Given the description of an element on the screen output the (x, y) to click on. 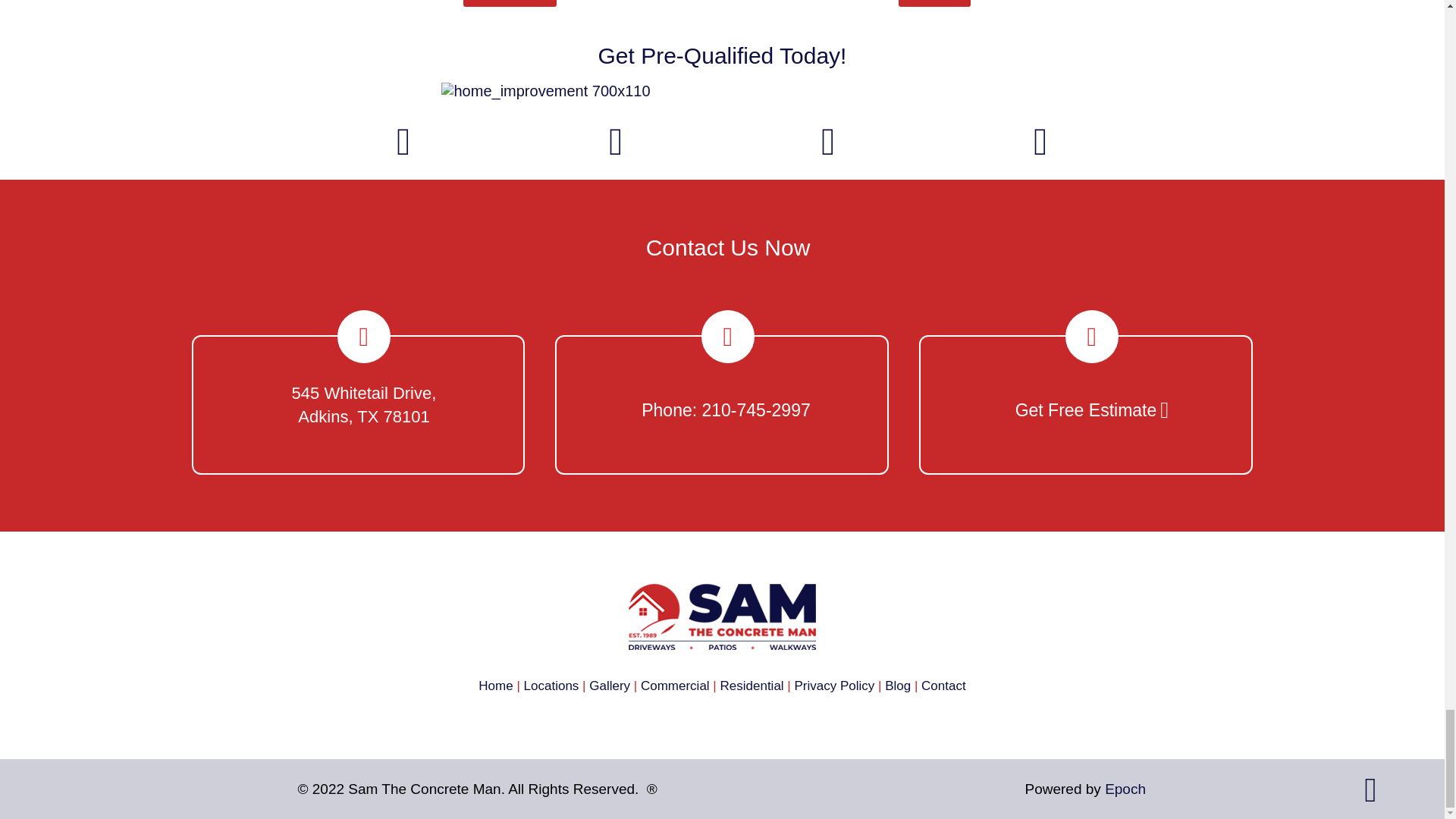
Epoch - Creativity with Expertise (1125, 788)
